Given the description of an element on the screen output the (x, y) to click on. 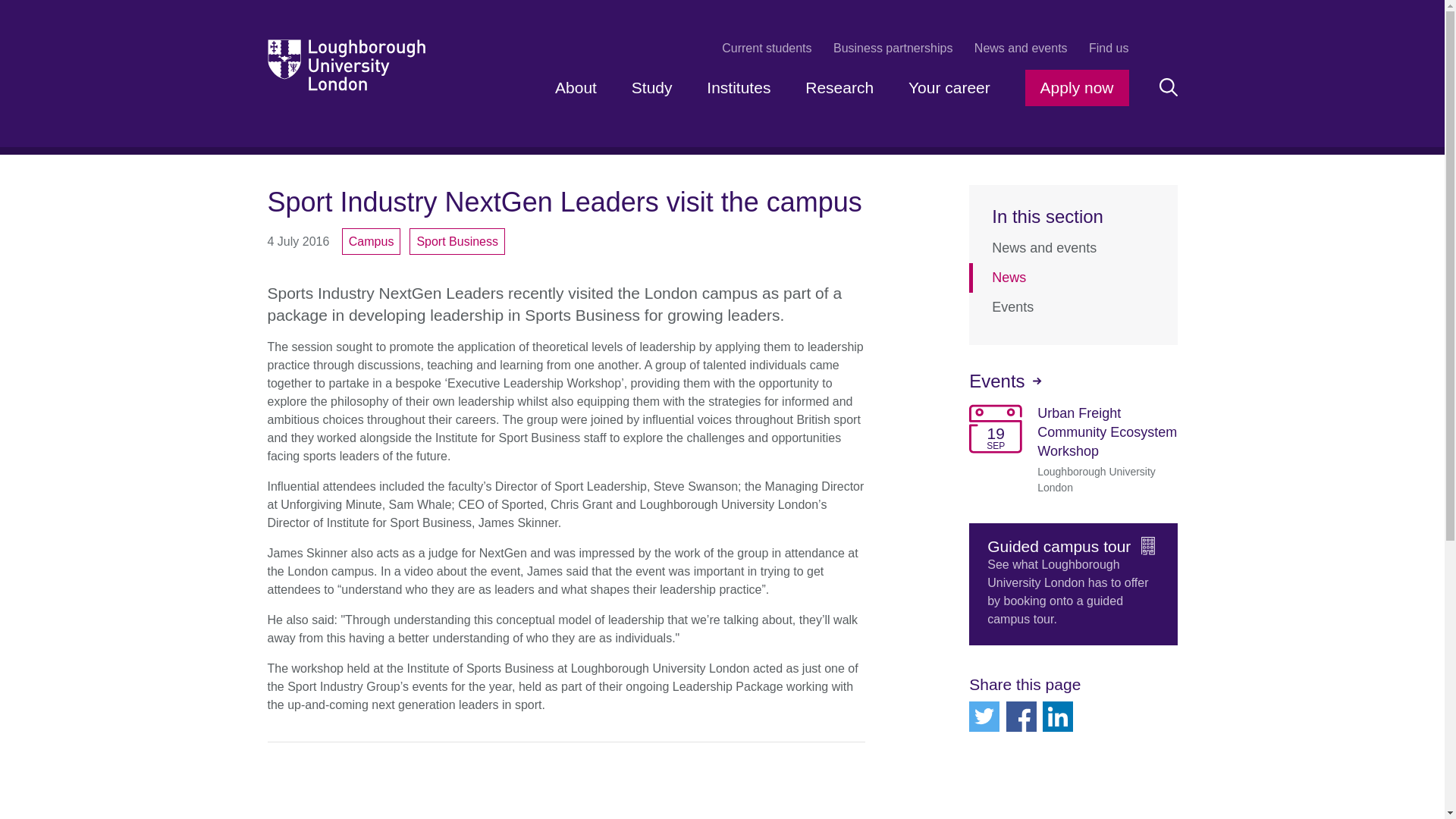
News (1074, 276)
Campus (371, 240)
Facebook (1021, 716)
Loughborough University London (345, 64)
Events (1074, 307)
News and events (1020, 48)
Apply now (1077, 87)
Sport Business (457, 240)
Find us (1108, 48)
News and events (1074, 247)
